Given the description of an element on the screen output the (x, y) to click on. 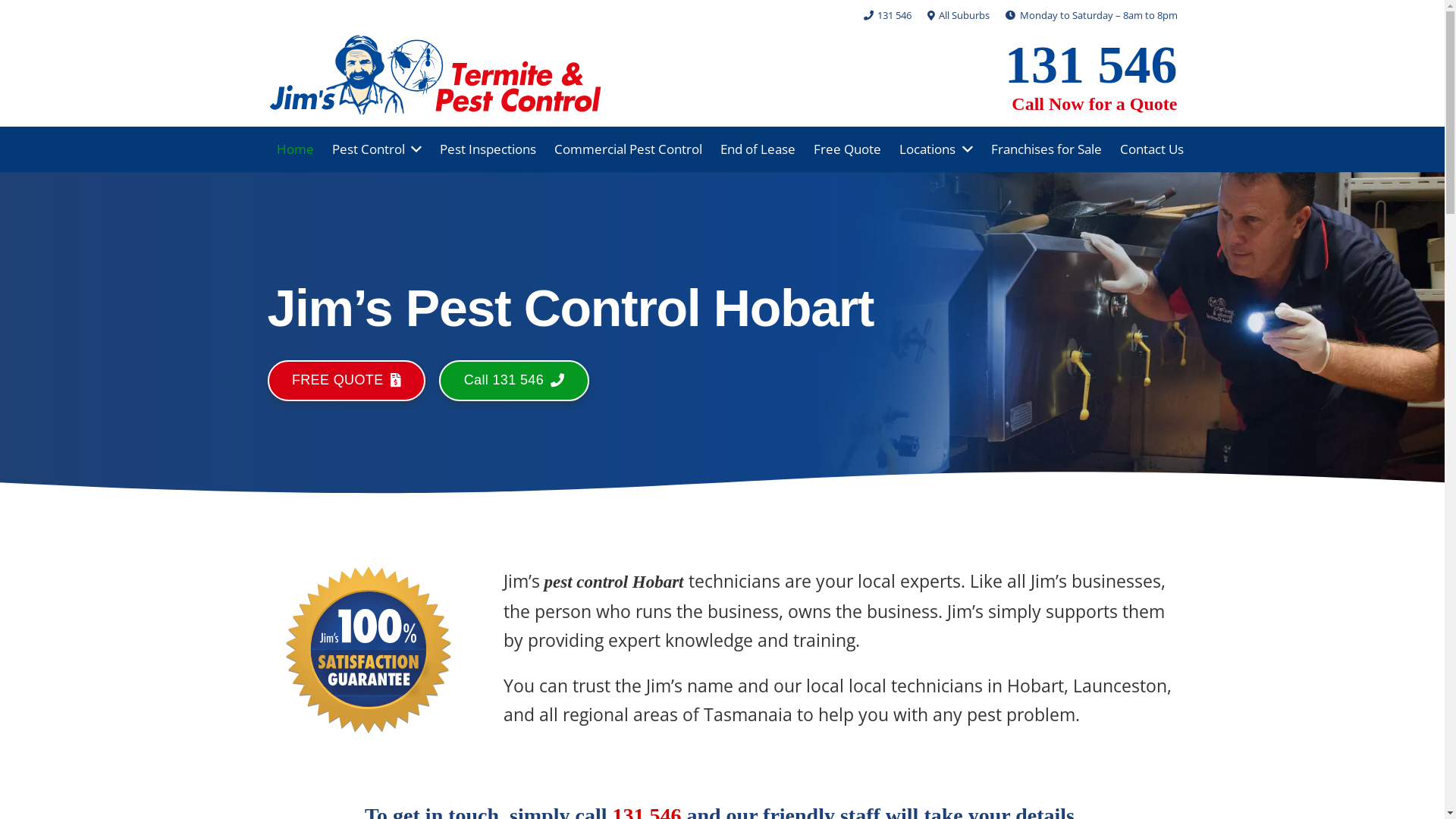
Free Quote Element type: text (847, 149)
131 546 Element type: text (1090, 63)
Commercial Pest Control Element type: text (628, 149)
Locations Element type: text (936, 149)
End of Lease Element type: text (757, 149)
FREE QUOTE Element type: text (345, 380)
Pest Control Element type: text (377, 149)
Pest Inspections Element type: text (487, 149)
Franchises for Sale Element type: text (1046, 149)
Call 131 546 Element type: text (514, 380)
Home Element type: text (294, 149)
Contact Us Element type: text (1151, 149)
